Given the description of an element on the screen output the (x, y) to click on. 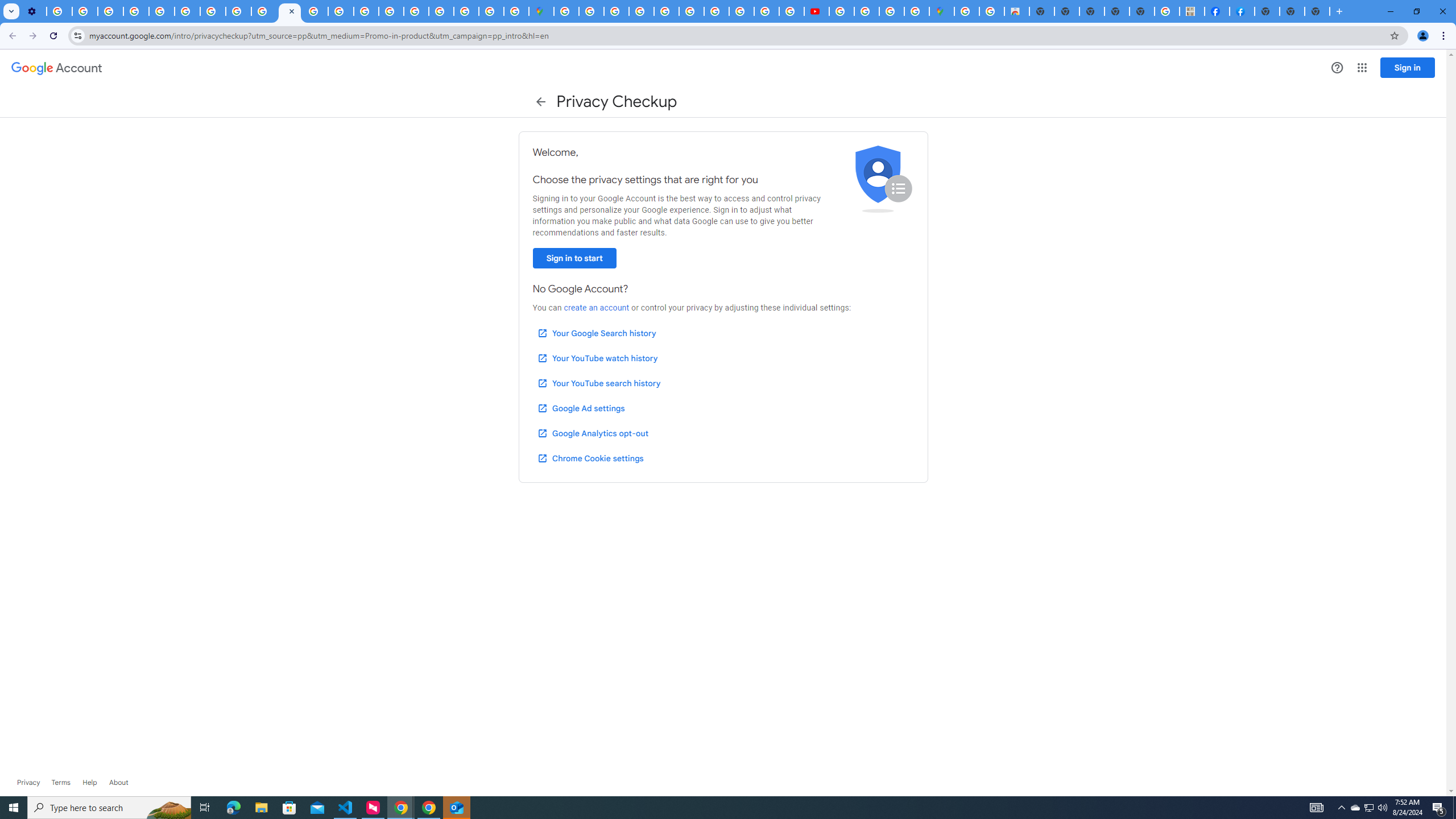
create an account (595, 307)
Miley Cyrus | Facebook (1216, 11)
Your Google Search history (596, 332)
Your YouTube search history (598, 383)
Settings - Customize profile (34, 11)
MILEY CYRUS. (1191, 11)
Privacy Checkup (264, 11)
